Given the description of an element on the screen output the (x, y) to click on. 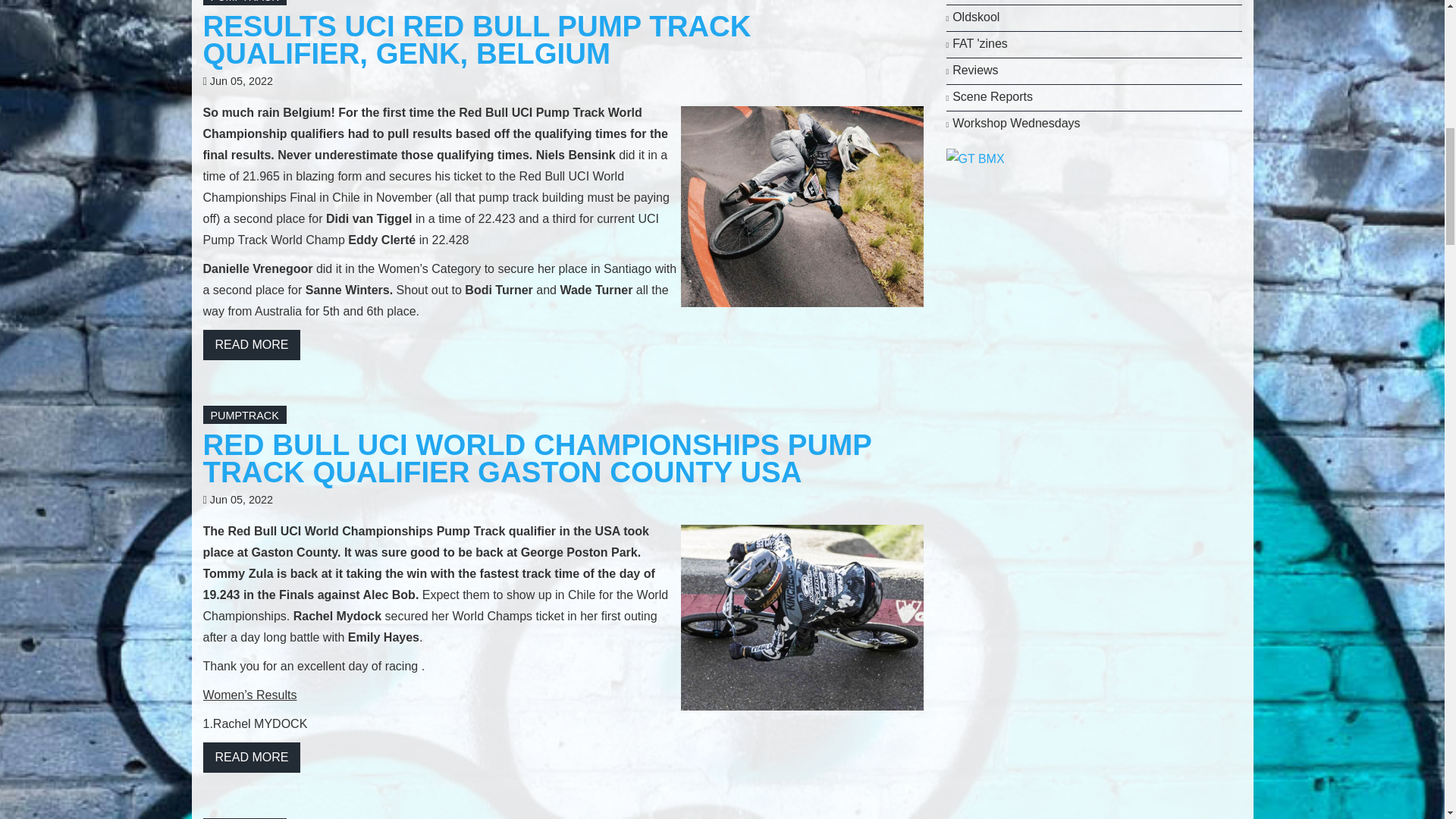
GT BMX (975, 158)
